Given the description of an element on the screen output the (x, y) to click on. 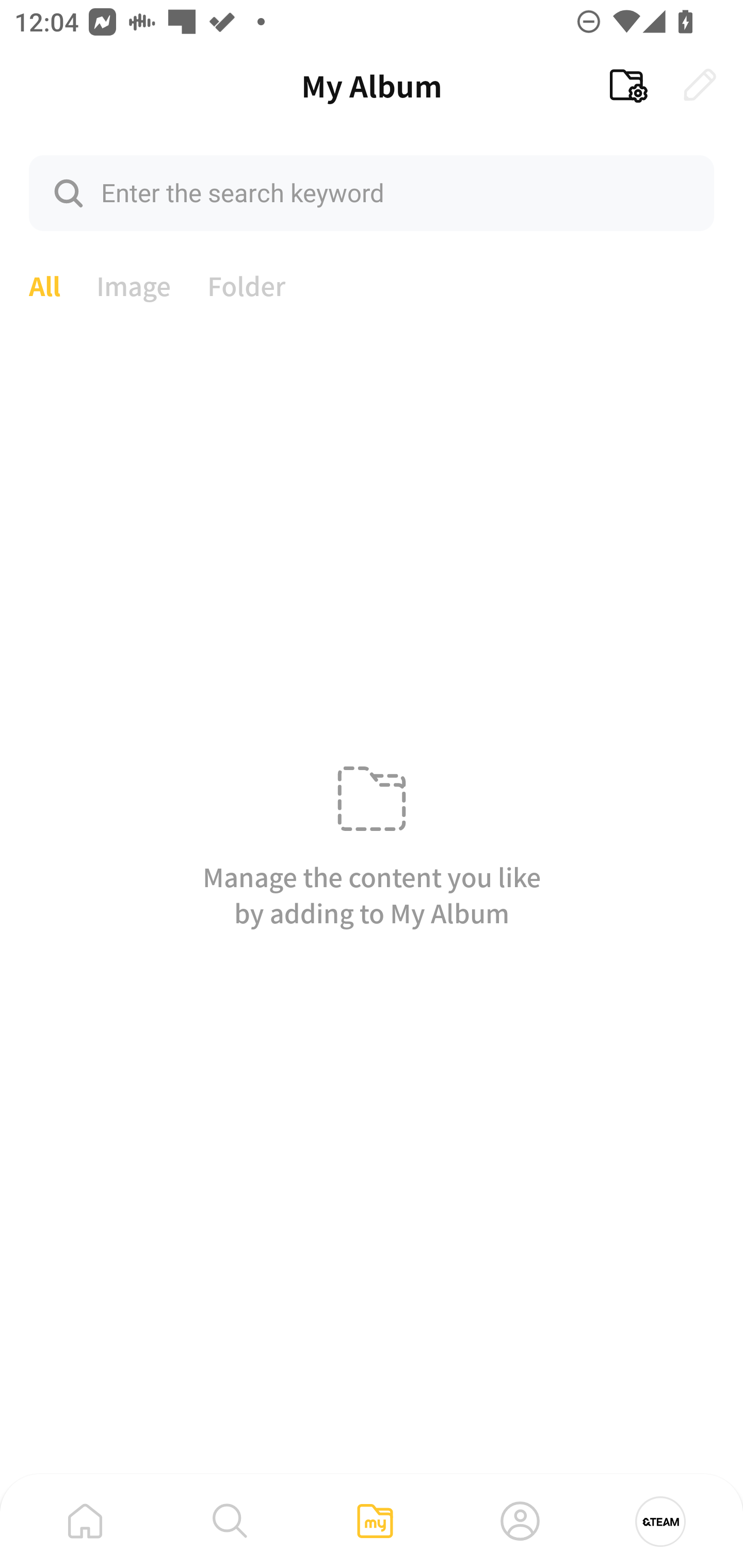
Enter the search keyword (371, 192)
All (44, 284)
Image (133, 284)
Folder (246, 284)
